Given the description of an element on the screen output the (x, y) to click on. 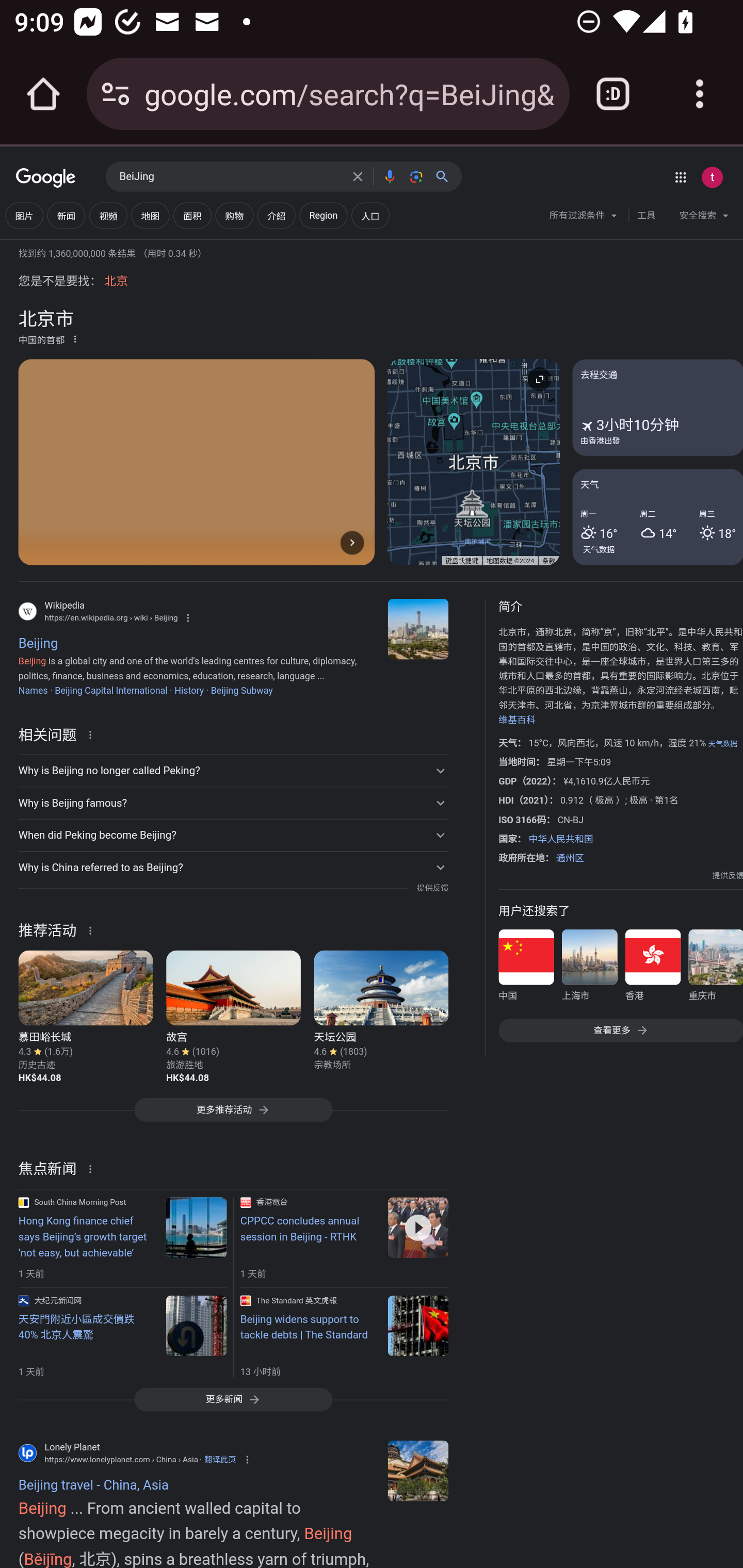
Open the home page (43, 93)
Connection is secure (115, 93)
Switch or close tabs (612, 93)
Customize and control Google Chrome (699, 93)
清除 (357, 176)
按语音搜索 (389, 176)
按图搜索 (415, 176)
搜索 (446, 176)
Google 应用 (680, 176)
Google 账号： test appium (testappium002@gmail.com) (712, 176)
Google (45, 178)
BeiJing (229, 177)
图片 (24, 215)
新闻 (65, 215)
视频 (107, 215)
地图 (149, 215)
添加“面积” 面积 (191, 215)
购物 (234, 215)
添加“介紹” 介紹 (276, 215)
添加“Region” Region (322, 215)
添加“人口” 人口 (369, 215)
所有过滤条件 (583, 217)
工具 (646, 215)
安全搜索 (703, 217)
北京 (115, 281)
更多选项 (74, 339)
去程交通 3小时10分钟 乘坐飞机 由香港出發 (657, 407)
展开地图 (539, 379)
天气 周一 高温 16 度 周二 高温 14 度 周三 高温 18 度 (657, 517)
下一张图片 (352, 542)
天气数据 (599, 548)
Beijing (417, 629)
Names (32, 690)
Beijing Capital International (110, 690)
History (188, 690)
Beijing Subway (241, 690)
维基百科 (516, 719)
关于这条结果的详细信息 (93, 733)
天气数据 (722, 742)
Why is Beijing no longer called Peking? (232, 770)
Why is Beijing famous? (232, 803)
When did Peking become Beijing? (232, 834)
中华人民共和国 (560, 837)
Why is China referred to as Beijing? (232, 866)
通州区 (569, 857)
提供反馈 (727, 875)
提供反馈 (432, 887)
关于这条结果的详细信息 (93, 928)
中国 (526, 968)
上海市 (588, 968)
香港 (652, 968)
重庆市 (715, 968)
查看更多 查看更多 查看更多 (620, 1029)
更多推荐活动 (232, 1114)
关于这条结果的详细信息 (93, 1168)
更多新闻 (232, 1399)
beijing (417, 1469)
翻译此页 (219, 1459)
